Given the description of an element on the screen output the (x, y) to click on. 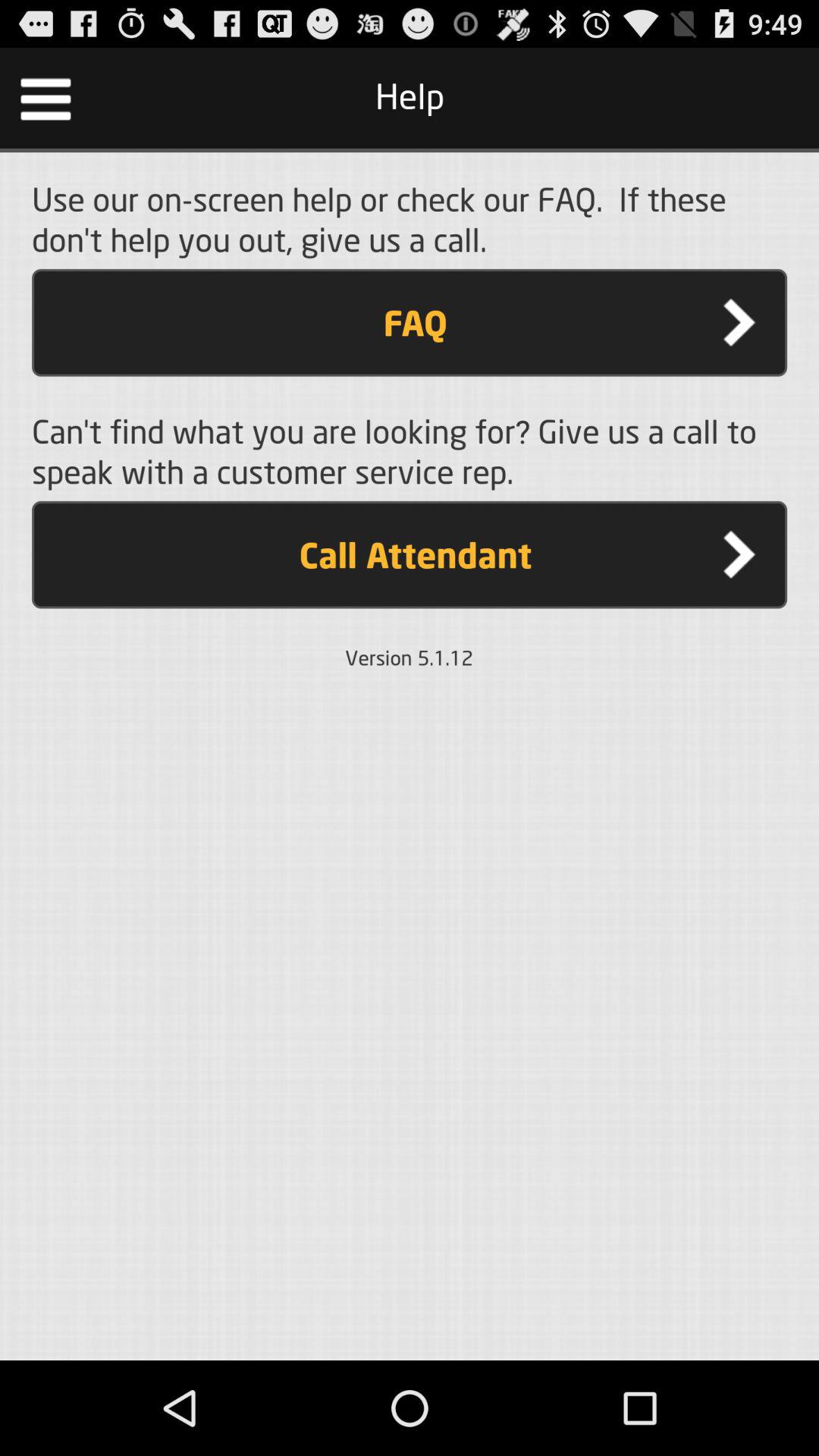
jump until call attendant item (409, 554)
